Given the description of an element on the screen output the (x, y) to click on. 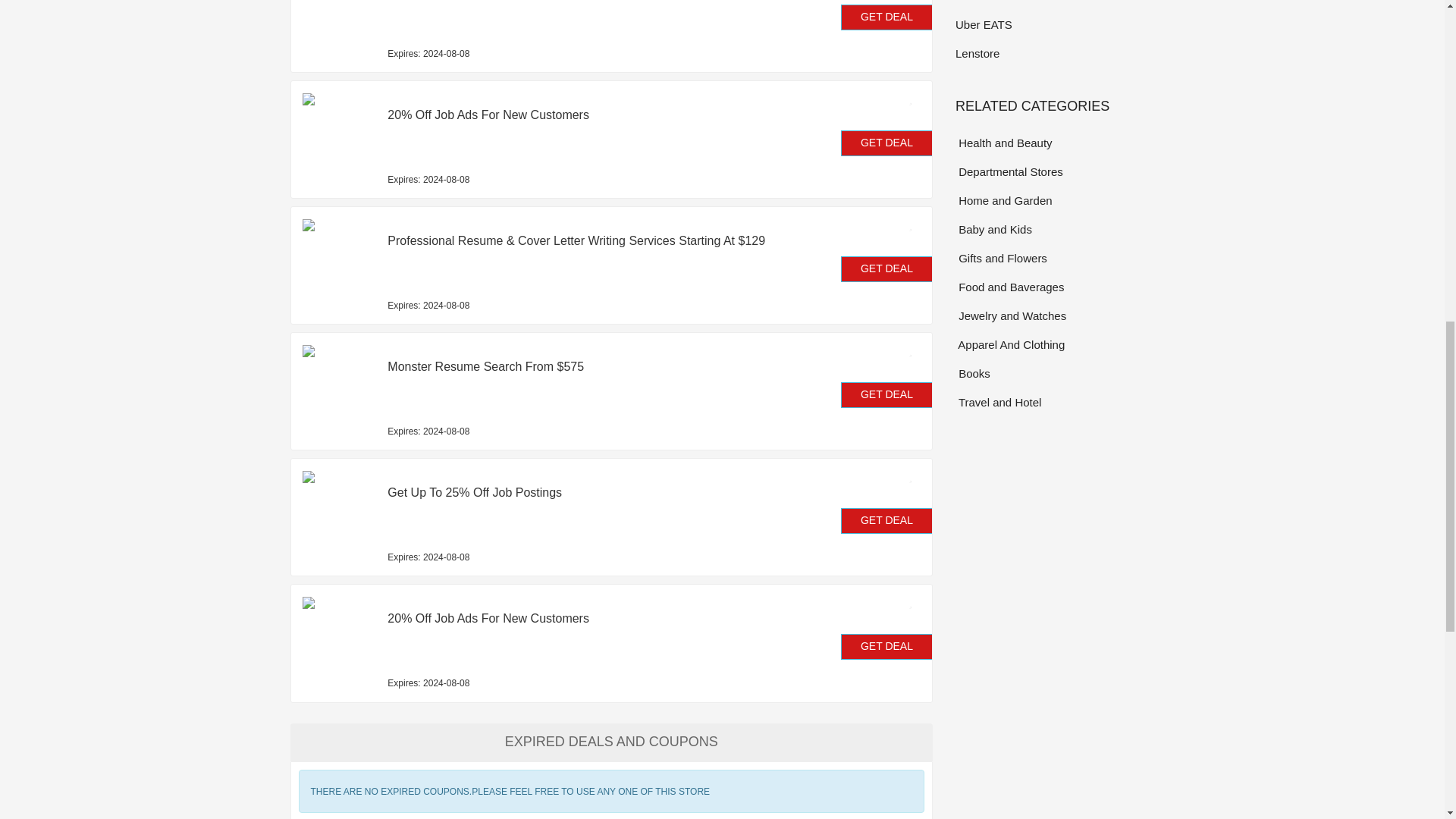
GET DEAL (887, 394)
Uber EATS (1054, 24)
GET DEAL (887, 646)
GET DEAL (887, 143)
Performance Bike (1054, 2)
Lenstore (1054, 53)
GET DEAL (887, 17)
GET DEAL (887, 268)
GET DEAL (887, 520)
